Given the description of an element on the screen output the (x, y) to click on. 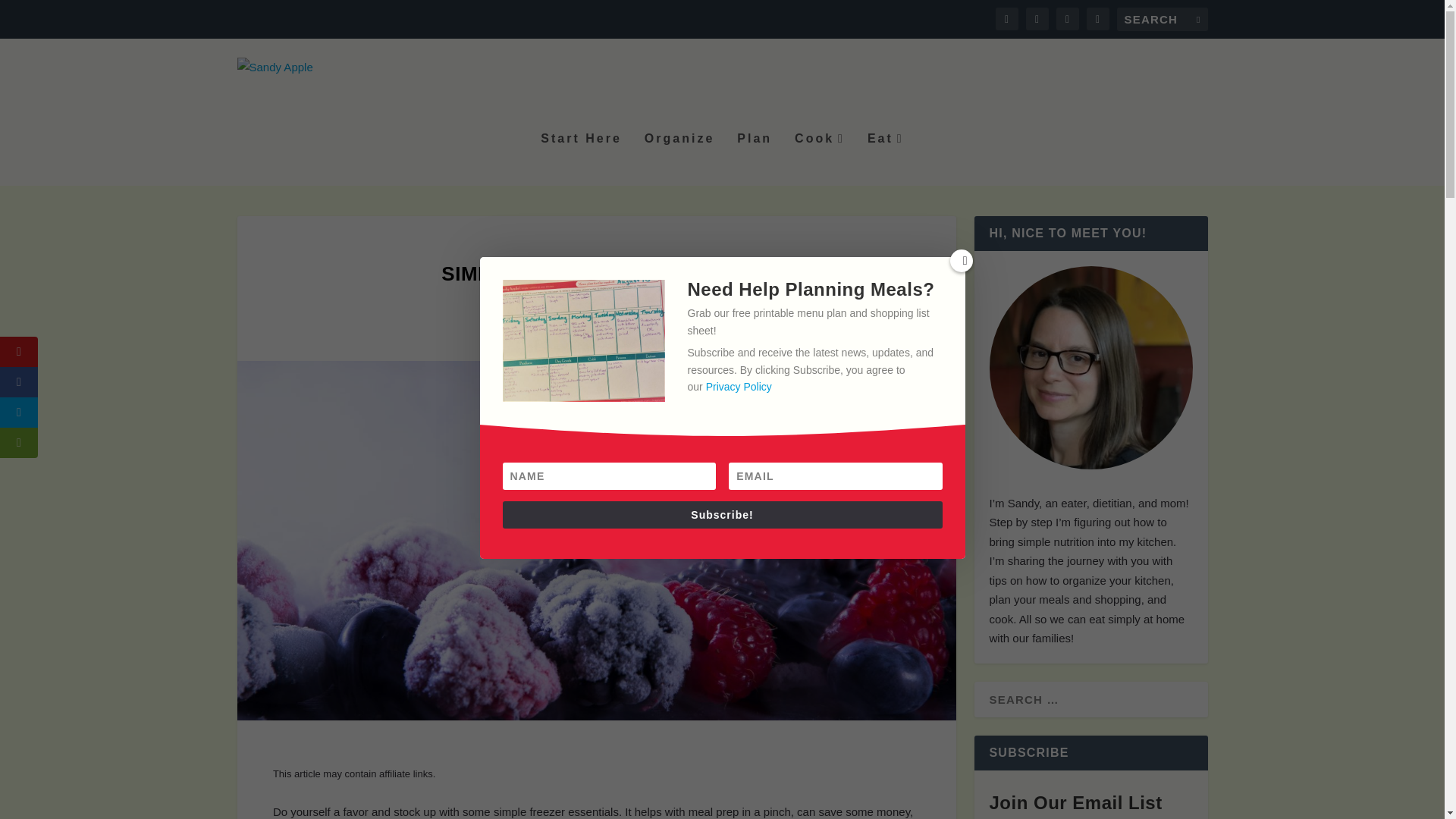
Search for: (1161, 19)
Cook (819, 158)
Organize (679, 158)
Start Here (580, 158)
Organize (608, 304)
0 (646, 304)
